Given the description of an element on the screen output the (x, y) to click on. 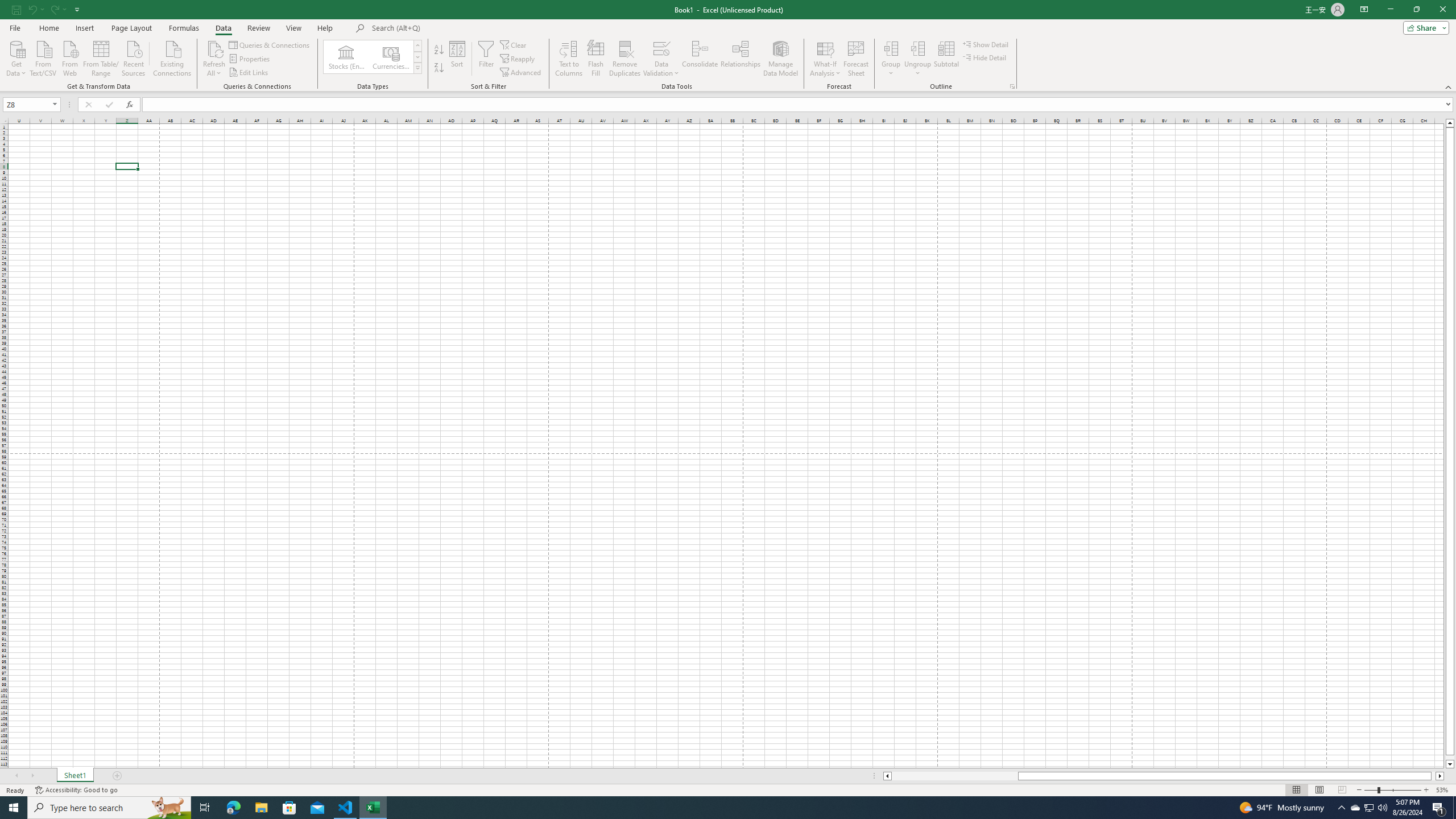
Hide Detail (985, 56)
Group and Outline Settings (1011, 85)
Relationships (740, 58)
Flash Fill (595, 58)
